Given the description of an element on the screen output the (x, y) to click on. 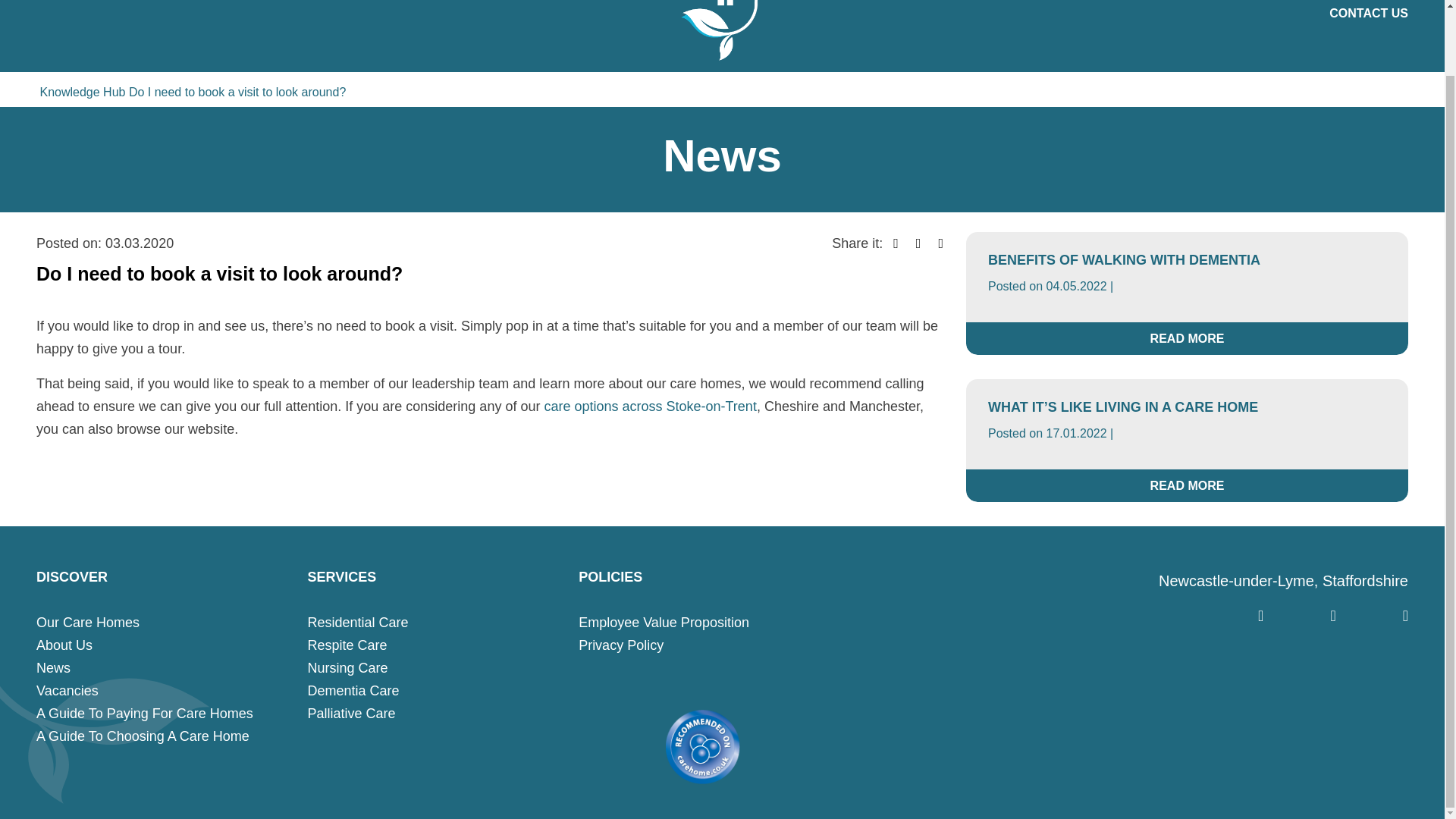
BENEFITS OF WALKING WITH DEMENTIA (1124, 259)
Knowledge Hub (82, 92)
About Us (64, 645)
Residential Care (358, 622)
Dementia Care (352, 690)
care options across Stoke-on-Trent (649, 405)
Vacancies (67, 690)
READ MORE (1186, 485)
READ MORE (1186, 338)
Our Care Homes (87, 622)
Nursing Care (347, 668)
Lovett Care (722, 30)
News (52, 668)
A Guide To Choosing A Care Home (142, 736)
Respite Care (347, 645)
